Given the description of an element on the screen output the (x, y) to click on. 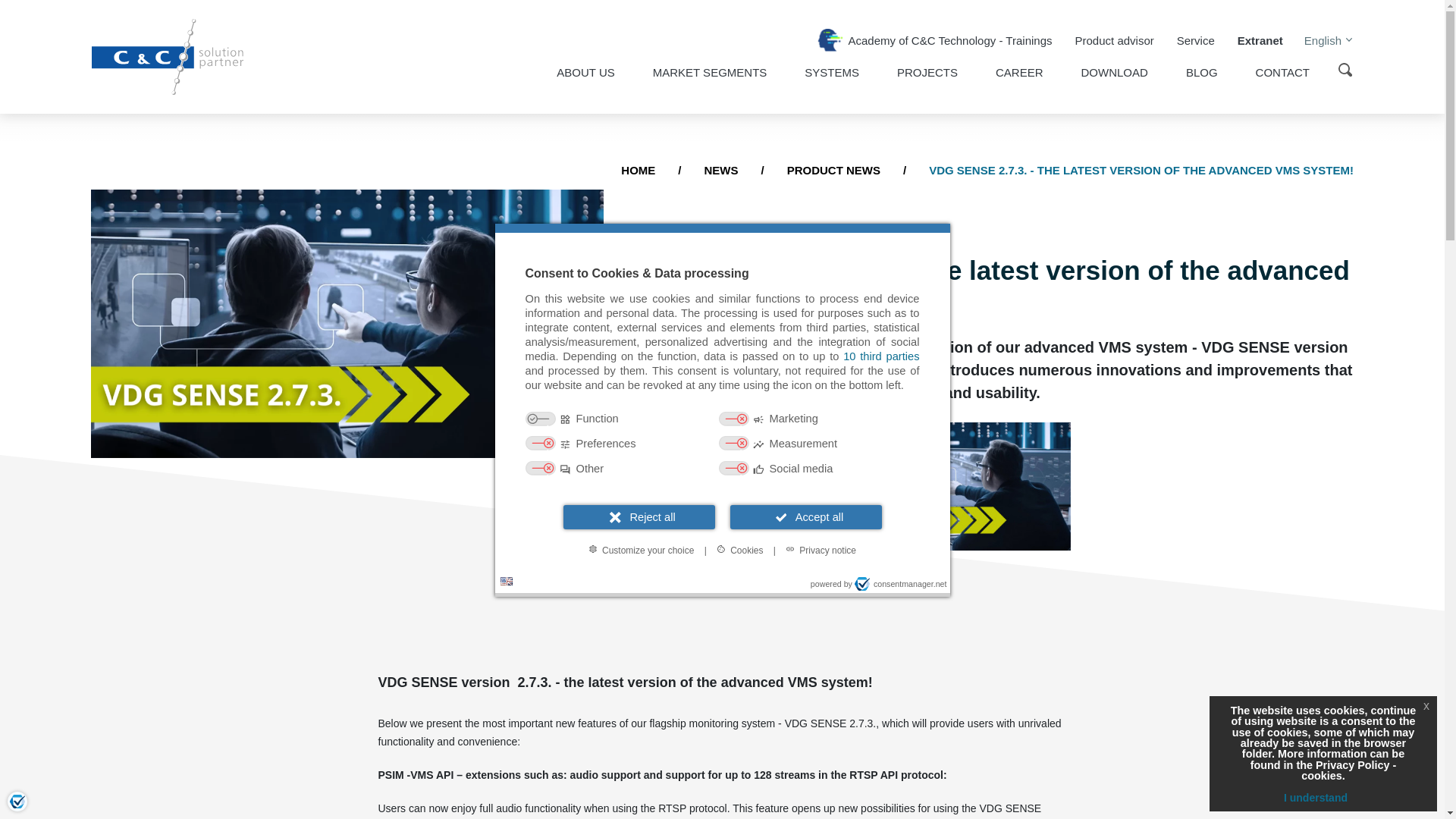
10 third parties (880, 356)
Cookies (739, 549)
Accept all (804, 516)
Reject all (638, 516)
Customize your choice (640, 549)
Language: en (506, 581)
Privacy notice (820, 549)
consentmanager.net (900, 583)
Purpose (721, 444)
Language: en (506, 580)
